Given the description of an element on the screen output the (x, y) to click on. 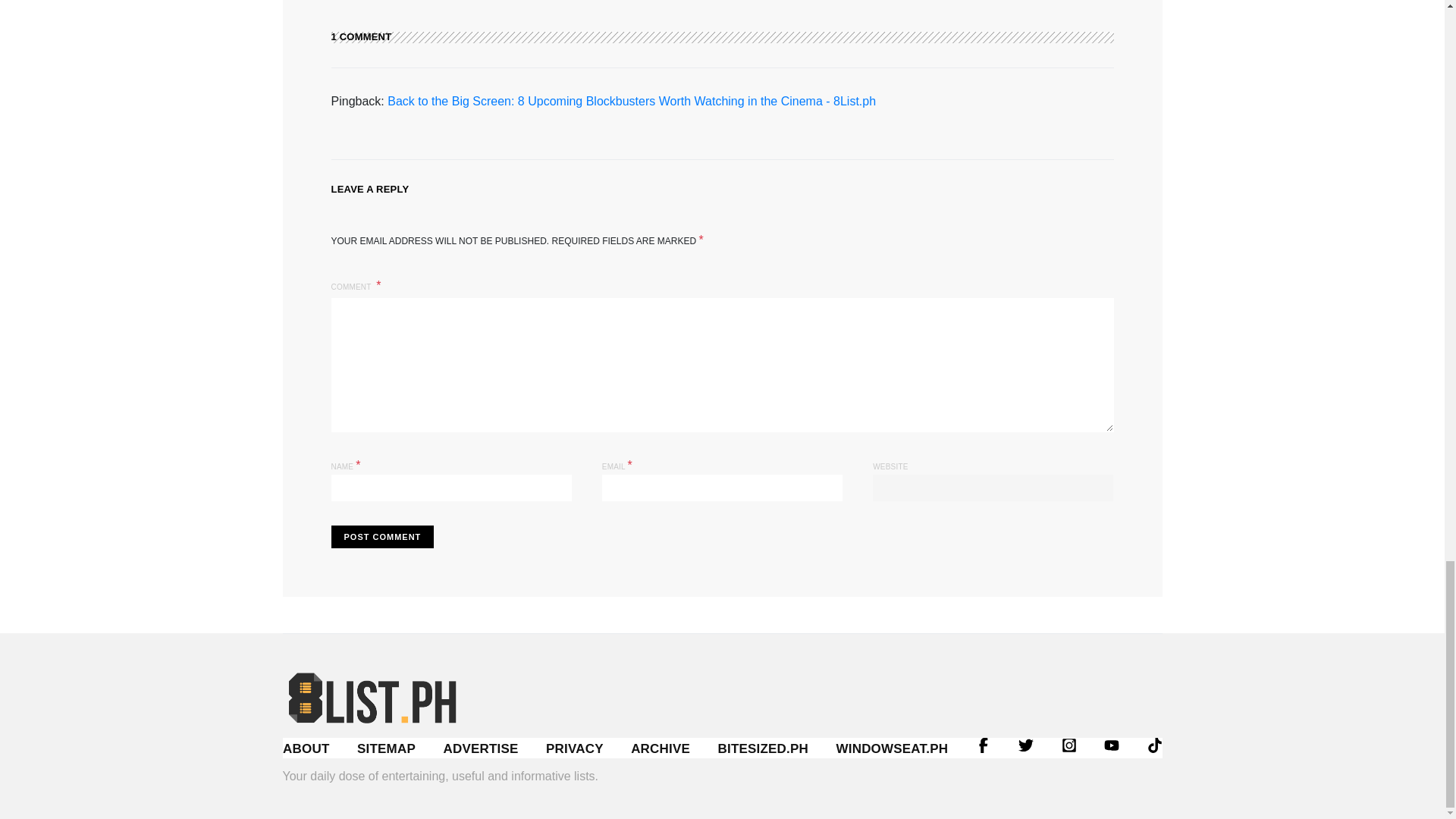
Post Comment (381, 536)
